Given the description of an element on the screen output the (x, y) to click on. 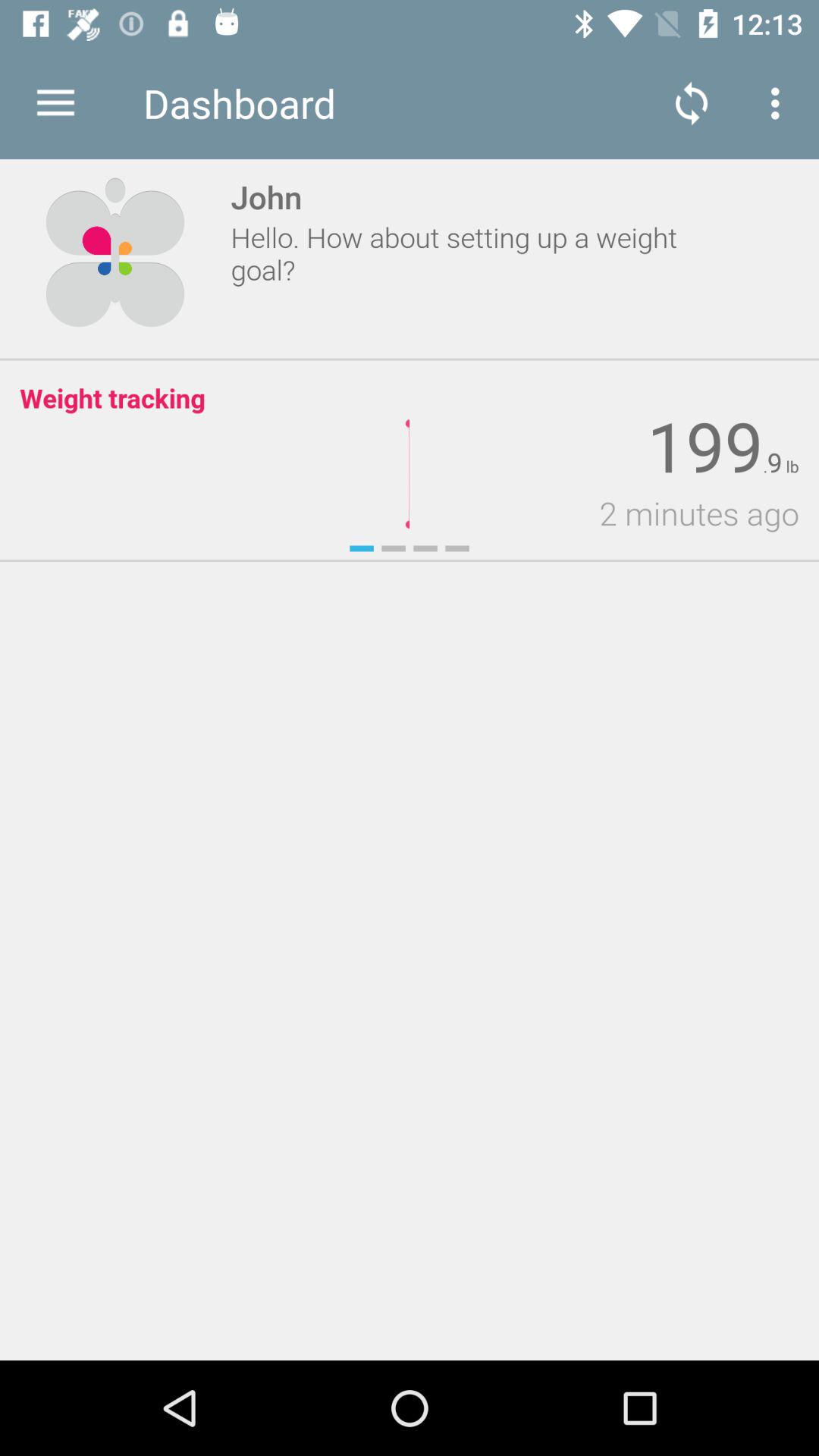
turn off app above the 199 icon (779, 103)
